Given the description of an element on the screen output the (x, y) to click on. 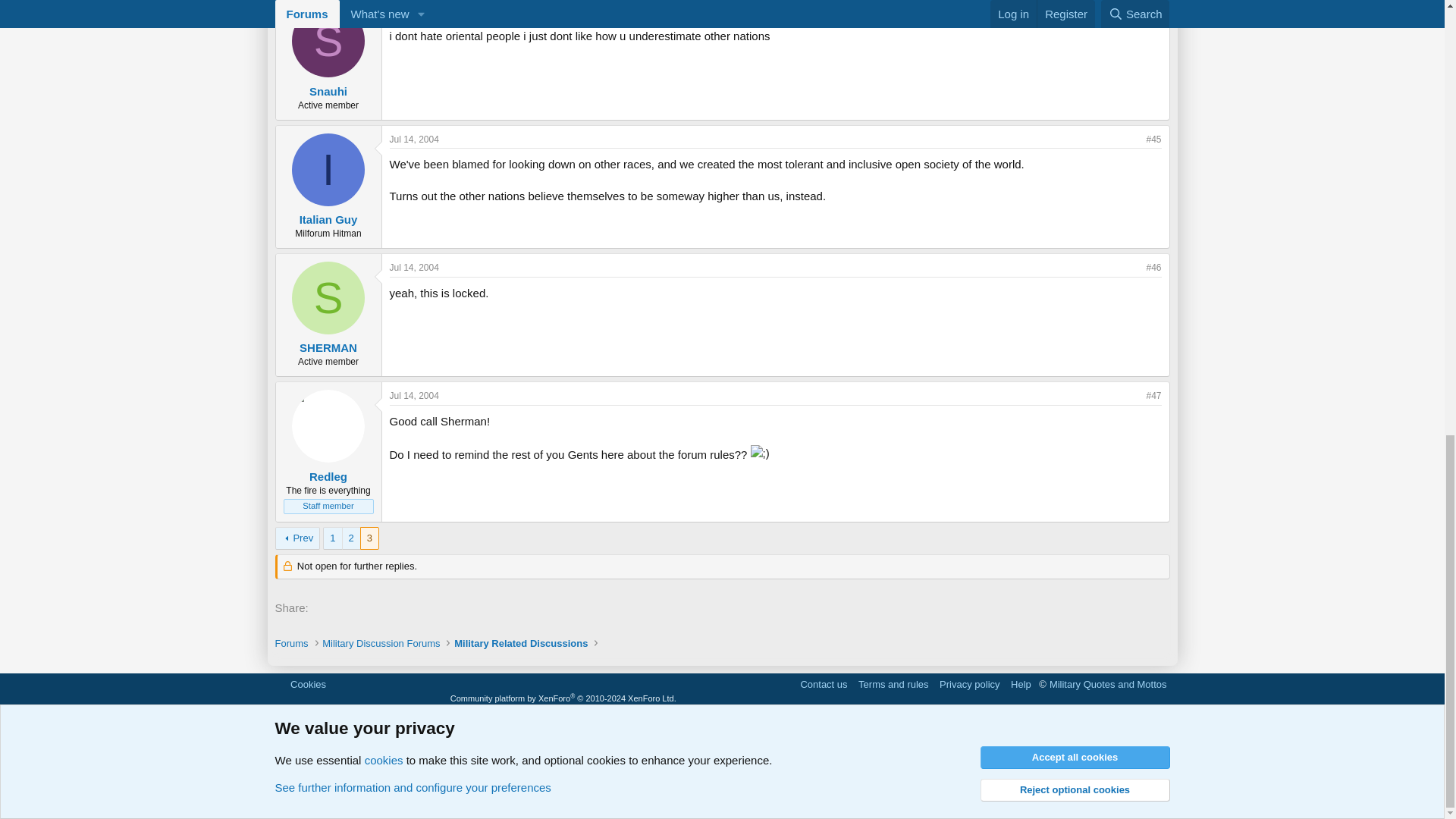
Jul 14, 2004 at 6:30 PM (414, 267)
Jul 14, 2004 at 9:33 AM (414, 9)
Jul 14, 2004 at 7:30 PM (414, 395)
Jul 14, 2004 at 10:57 AM (414, 139)
